Given the description of an element on the screen output the (x, y) to click on. 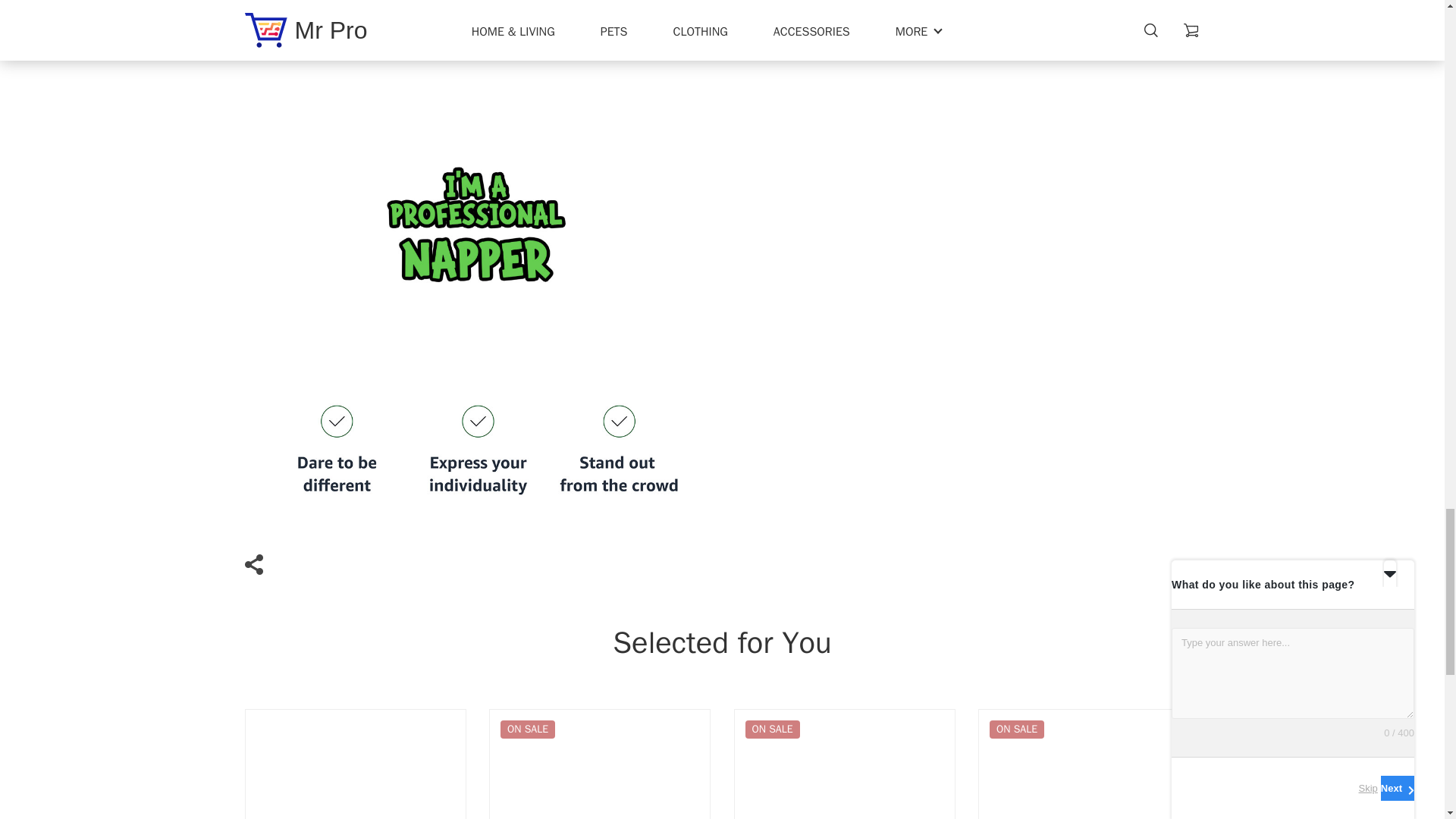
2363-a00c0d.jpeg (477, 18)
